Given the description of an element on the screen output the (x, y) to click on. 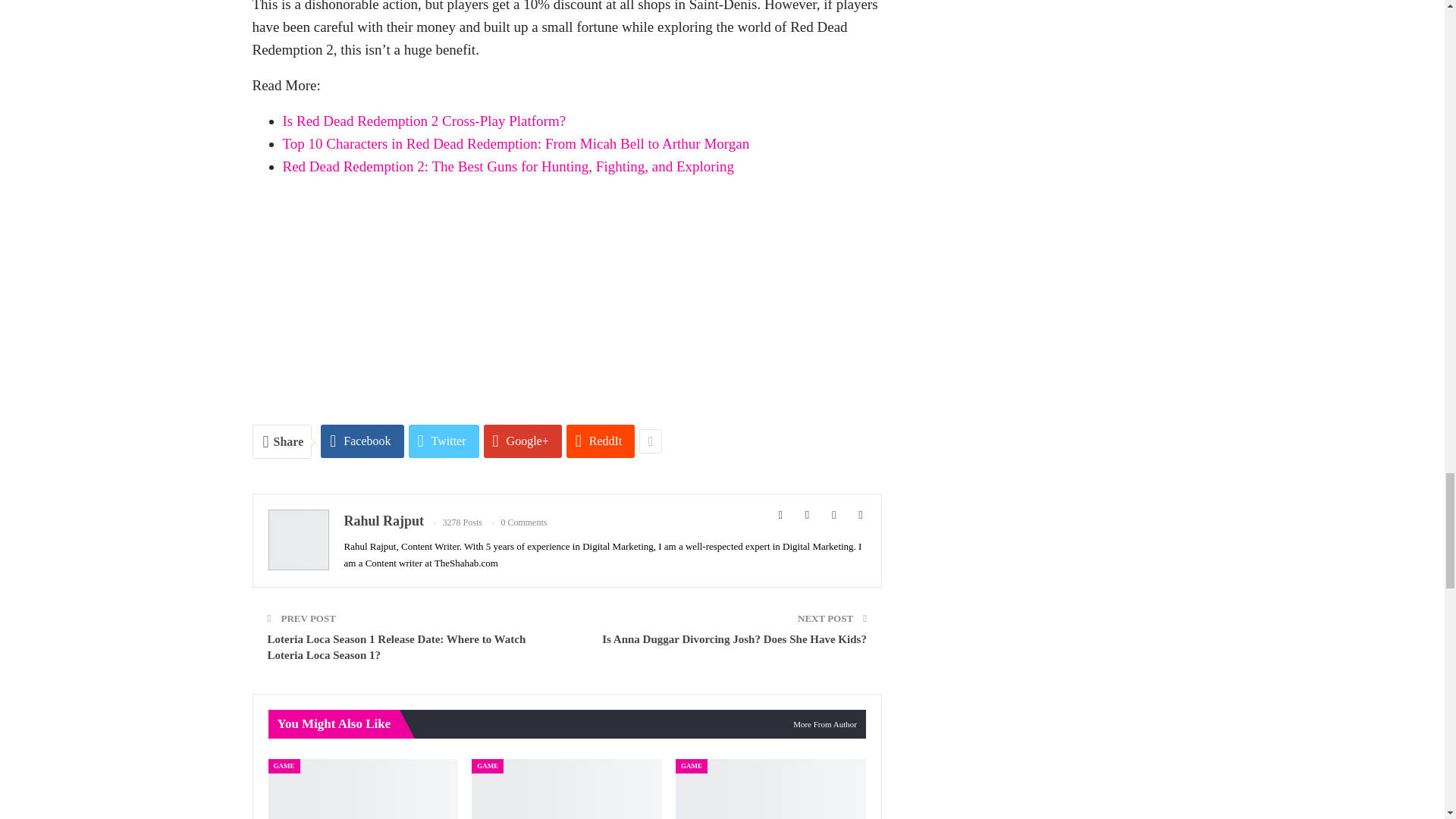
The Xbox 360 Dashboard Has Undergone a Significant Change (362, 789)
Twitter (444, 441)
Best CS2 Cases to Open in 2024 (770, 789)
Facebook (361, 441)
Is Red Dead Redemption 2 Cross-Play Platform? (424, 120)
